Given the description of an element on the screen output the (x, y) to click on. 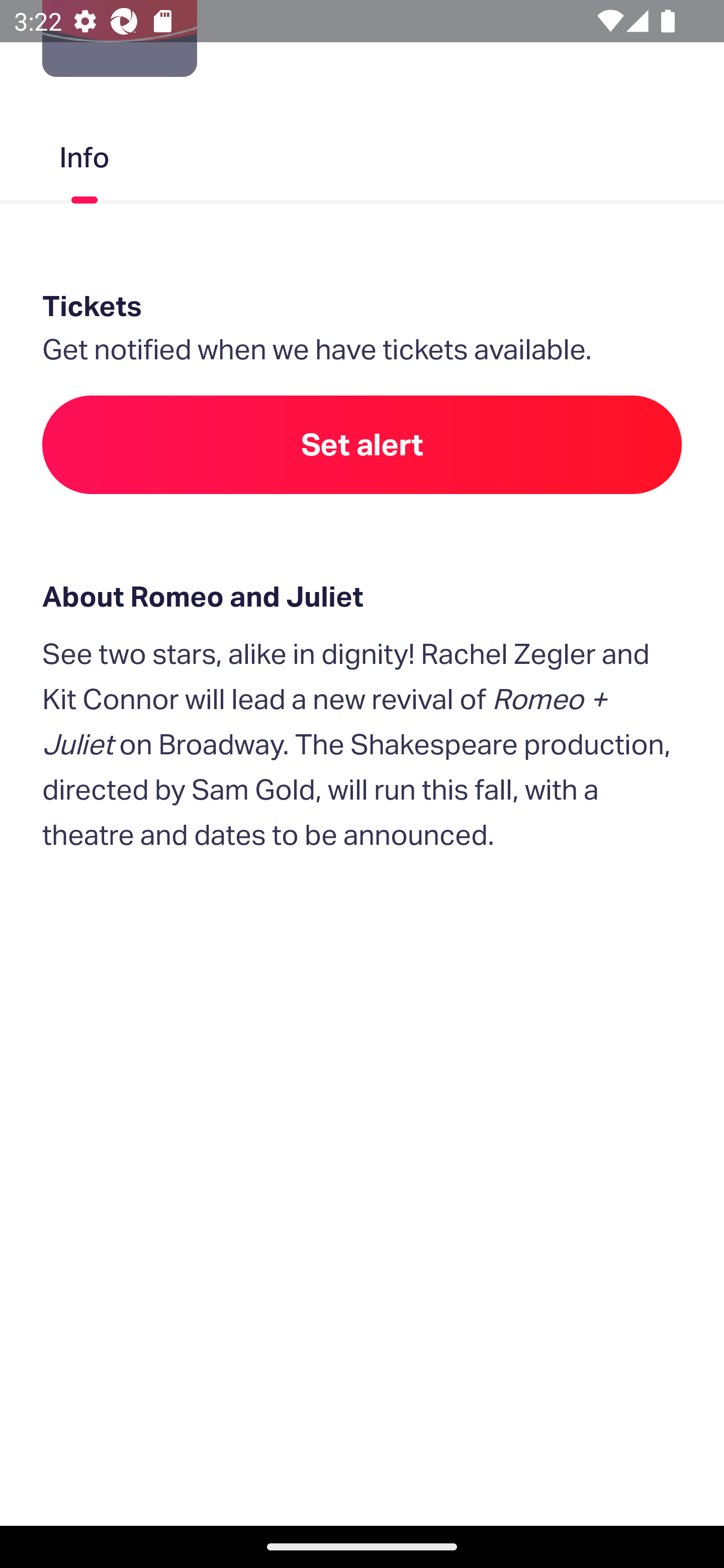
Set alert (361, 444)
About Romeo and Juliet (361, 596)
